Given the description of an element on the screen output the (x, y) to click on. 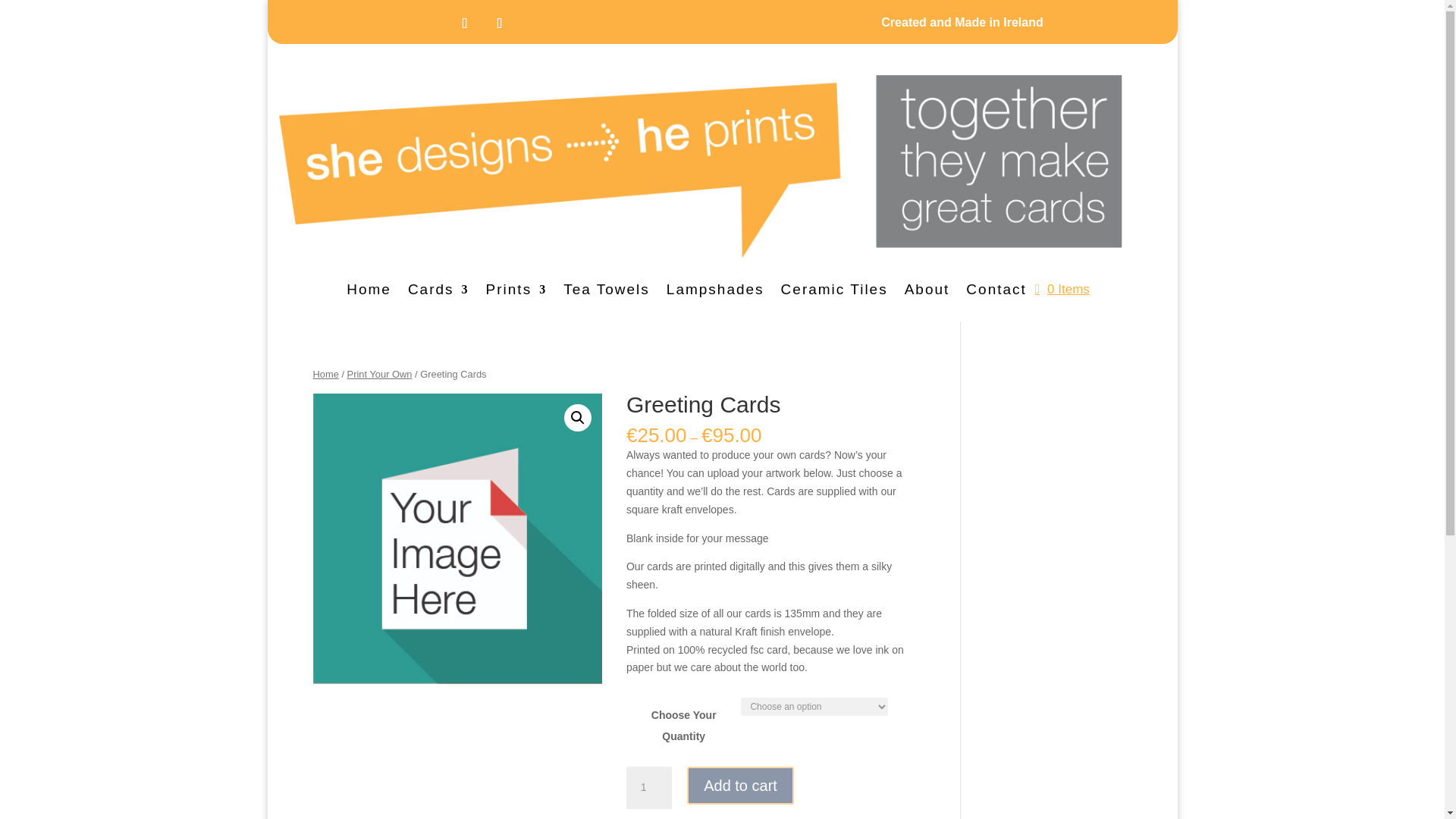
Follow on Facebook (498, 23)
Follow on Instagram (464, 23)
Lampshades (715, 292)
0 Items (1062, 289)
your-own-cards.jpg (457, 538)
Home (368, 292)
1 (648, 787)
Tea Towels (606, 292)
Ceramic Tiles (834, 292)
Cards (437, 292)
About (927, 292)
Prints (516, 292)
Contact (996, 292)
